Given the description of an element on the screen output the (x, y) to click on. 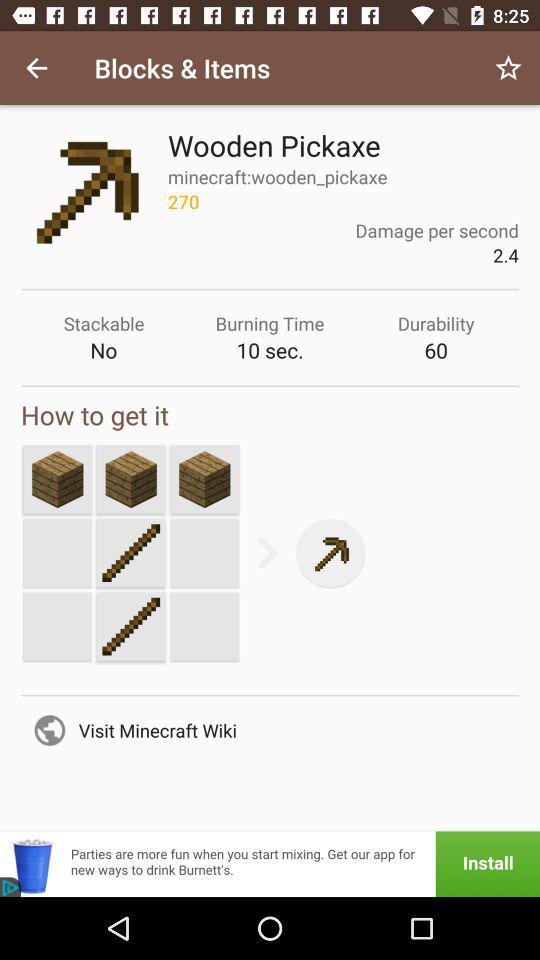
open icon next to the blocks & items icon (508, 67)
